Given the description of an element on the screen output the (x, y) to click on. 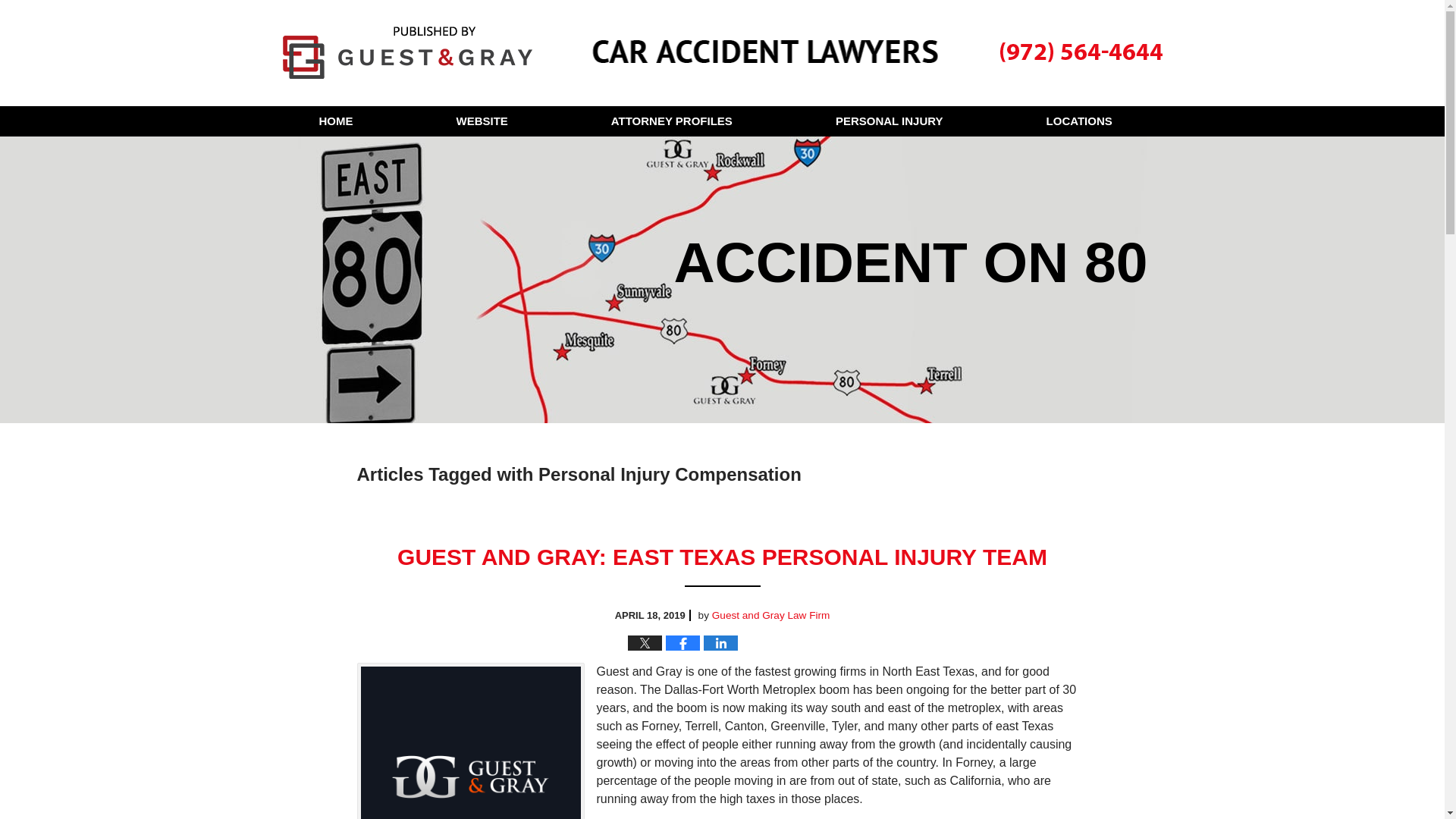
Published By Guest and Gray Law Firm (1077, 51)
GUEST AND GRAY: EAST TEXAS PERSONAL INJURY TEAM (721, 556)
WEBSITE (481, 121)
Accident on 80 (406, 52)
HOME (335, 121)
ATTORNEY PROFILES (671, 121)
PERSONAL INJURY (889, 121)
Guest and Gray Law Firm (770, 614)
LOCATIONS (1078, 121)
Permalink to Guest and Gray: East Texas Personal Injury Team (721, 556)
